Given the description of an element on the screen output the (x, y) to click on. 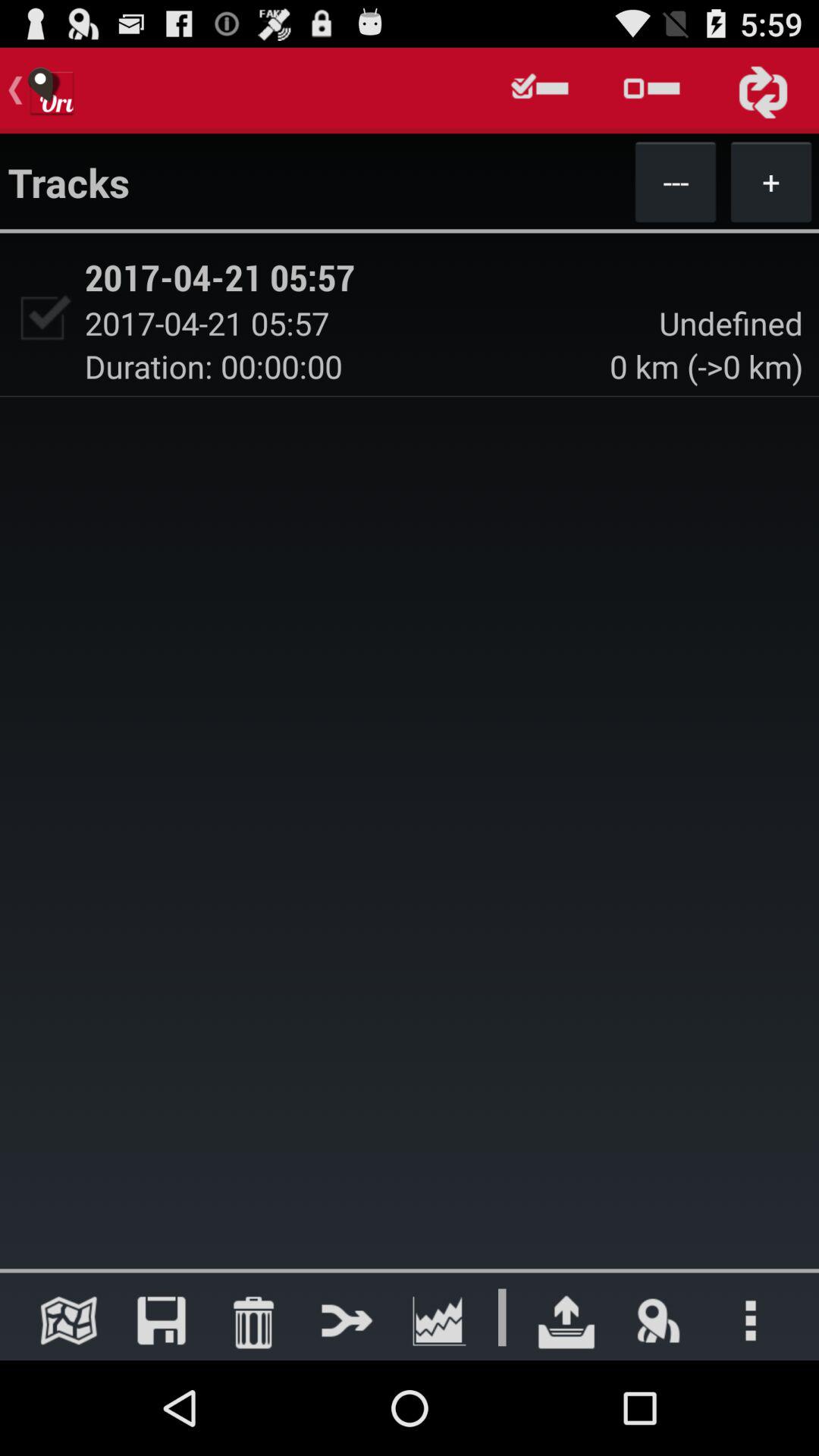
go do dounulod (566, 1320)
